Given the description of an element on the screen output the (x, y) to click on. 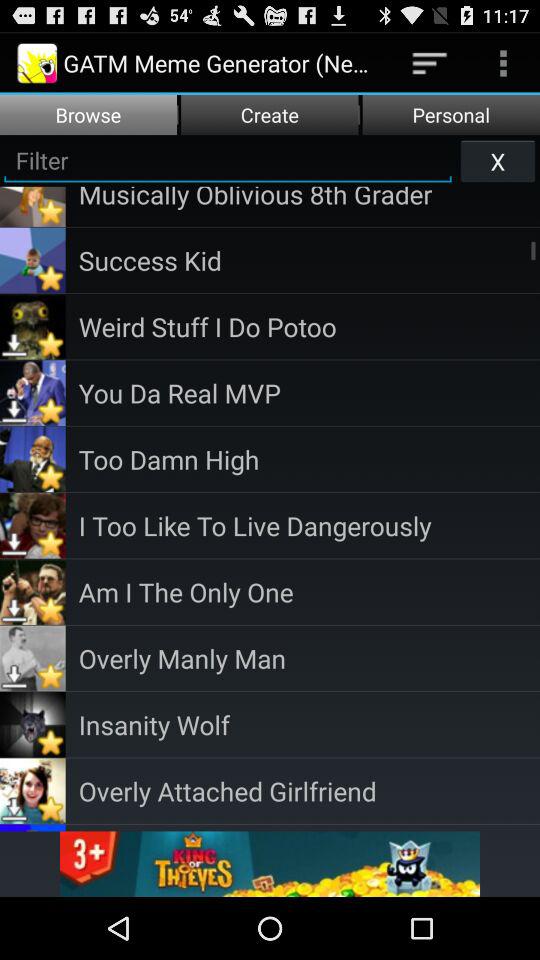
swipe to you da real icon (309, 392)
